Given the description of an element on the screen output the (x, y) to click on. 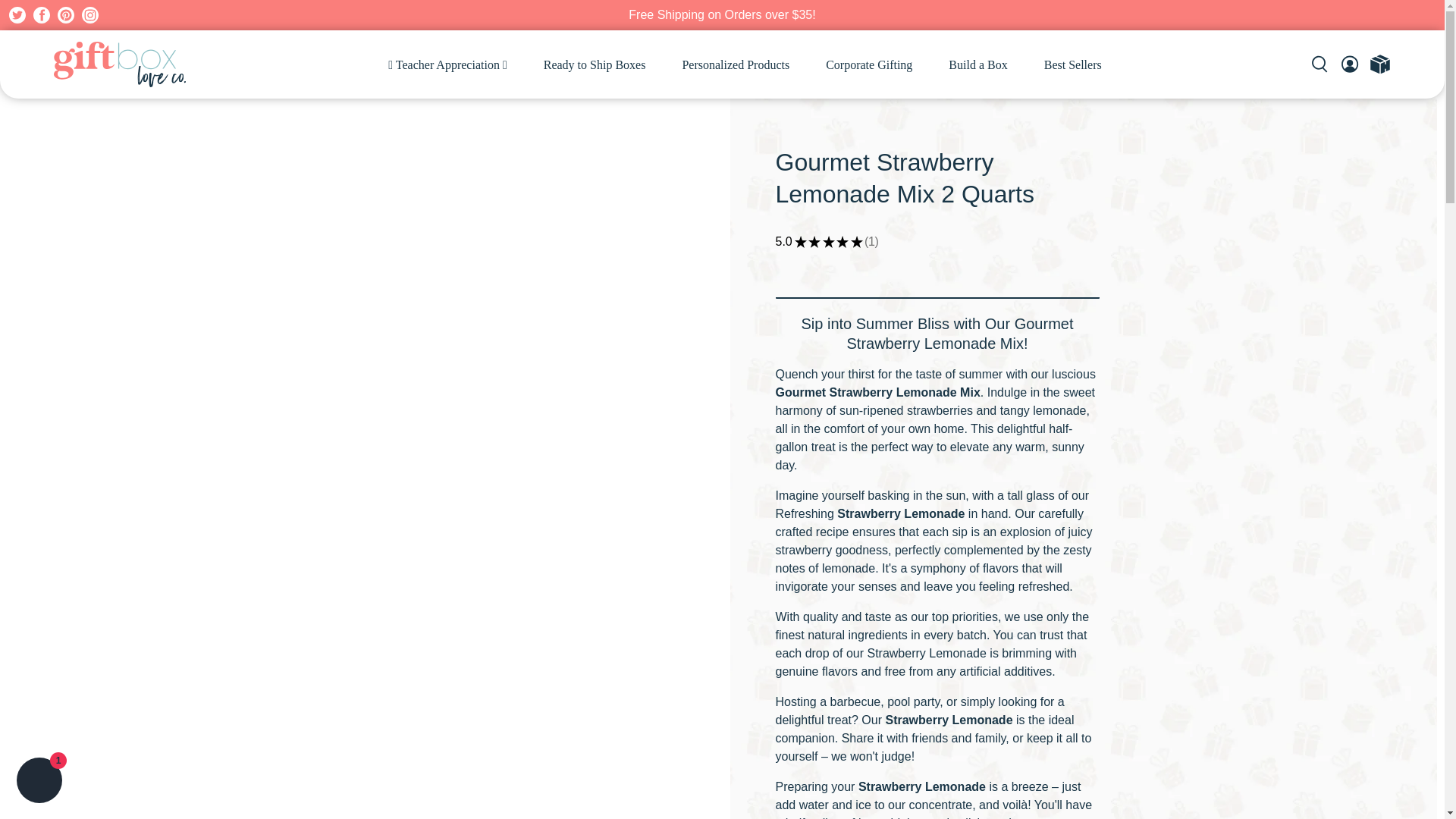
giftboxloveco on Facebook (41, 14)
Build a Box (977, 64)
Personalized Products (735, 64)
giftboxloveco on Pinterest (66, 14)
giftboxloveco on Twitter (17, 14)
Corporate Gifting (869, 64)
giftboxloveco on Instagram (90, 14)
giftboxloveco (119, 63)
Shopify online store chat (38, 781)
Ready to Ship Boxes (594, 64)
Best Sellers (1072, 64)
